Given the description of an element on the screen output the (x, y) to click on. 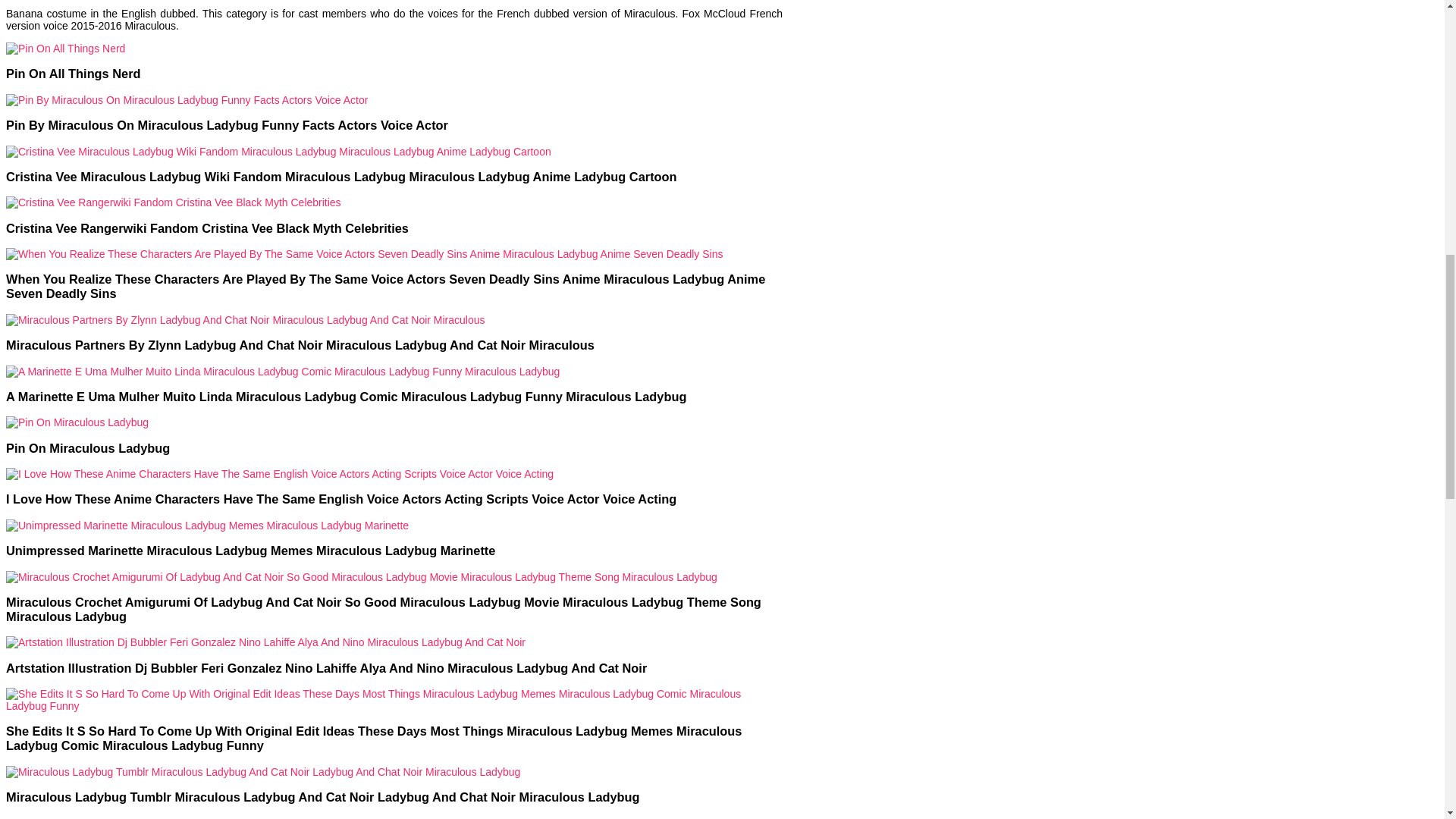
pinterest.com (80, 818)
